Given the description of an element on the screen output the (x, y) to click on. 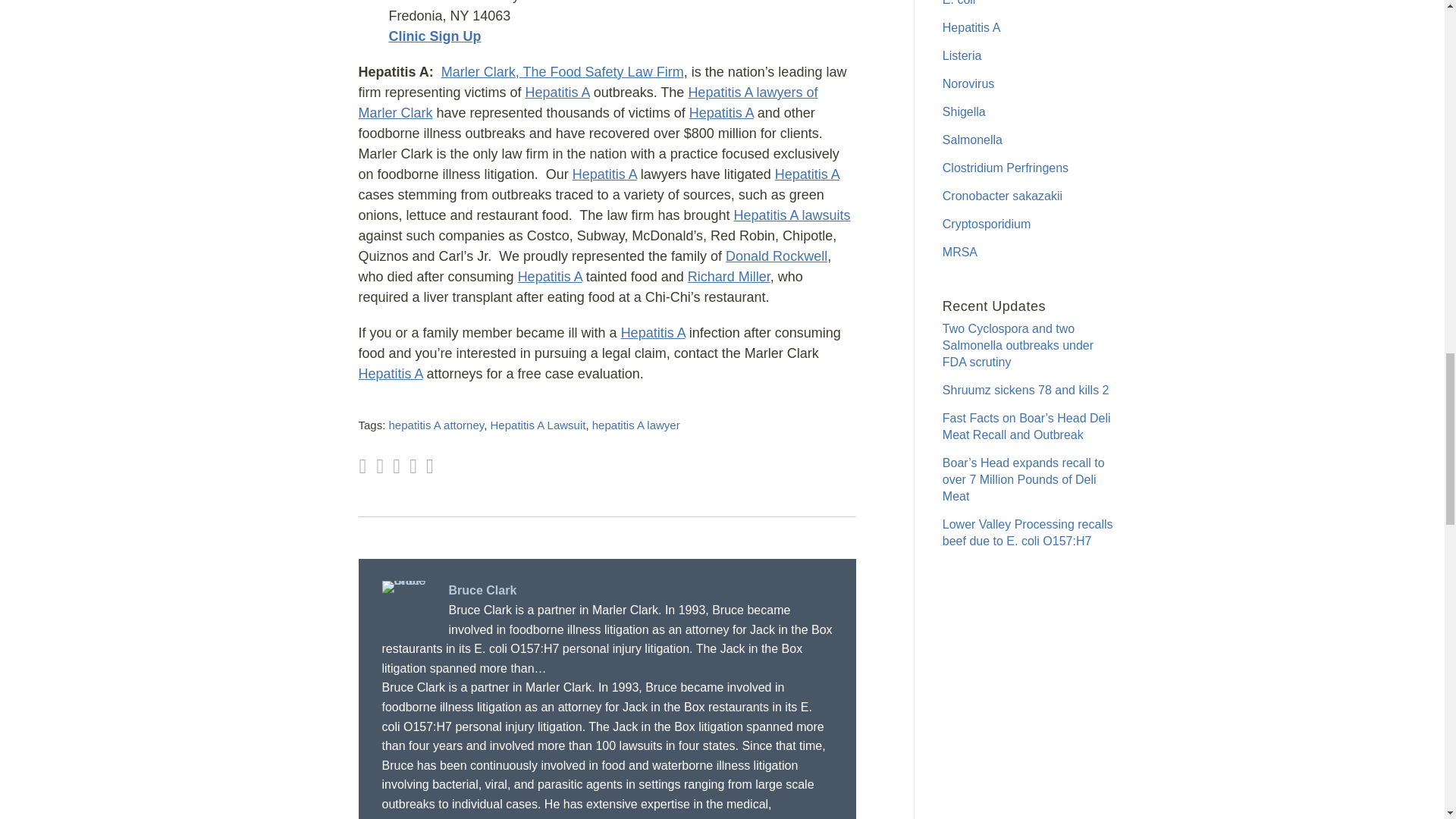
hepatitis A lawyer (635, 424)
Hepatitis A Lawsuit (538, 424)
Hepatitis A (653, 332)
Clinic Sign Up (434, 36)
Hepatitis A (604, 174)
Richard Miller (728, 276)
Hepatitis A (557, 92)
Hepatitis A (807, 174)
Donald Rockwell (776, 255)
Hepatitis A lawsuits (791, 215)
Hepatitis A (390, 373)
hepatitis A attorney (436, 424)
Hepatitis A (550, 276)
Hepatitis A (721, 112)
Hepatitis A lawyers of Marler Clark (587, 102)
